Given the description of an element on the screen output the (x, y) to click on. 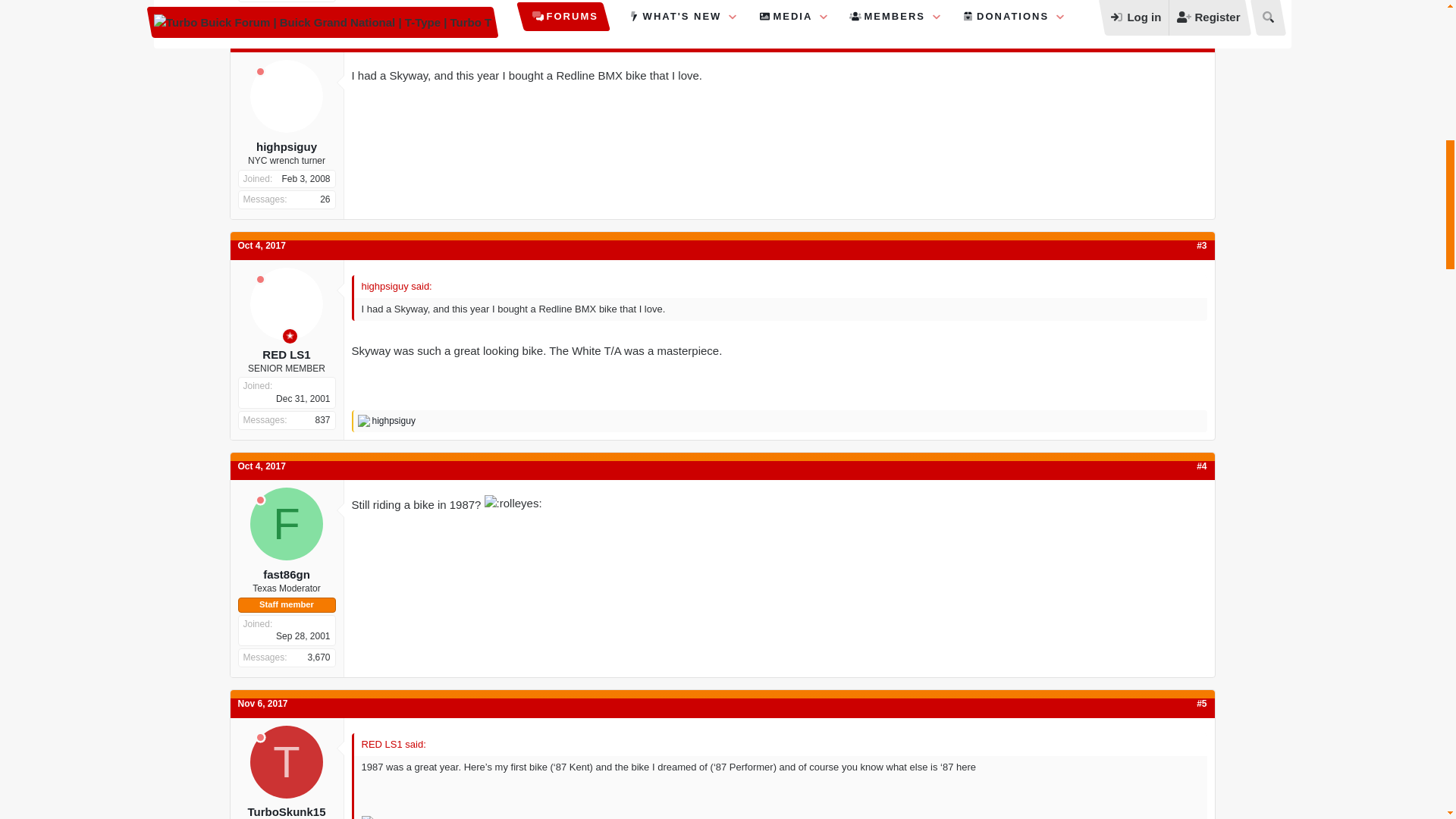
Roll Eyes    :rolleyes: (512, 503)
Like (363, 420)
Thread Author (289, 335)
Oct 4, 2017 at 11:07 AM (261, 466)
Oct 3, 2017 at 9:41 PM (261, 38)
Nov 6, 2017 at 11:11 AM (263, 703)
Oct 4, 2017 at 11:03 AM (261, 245)
